Given the description of an element on the screen output the (x, y) to click on. 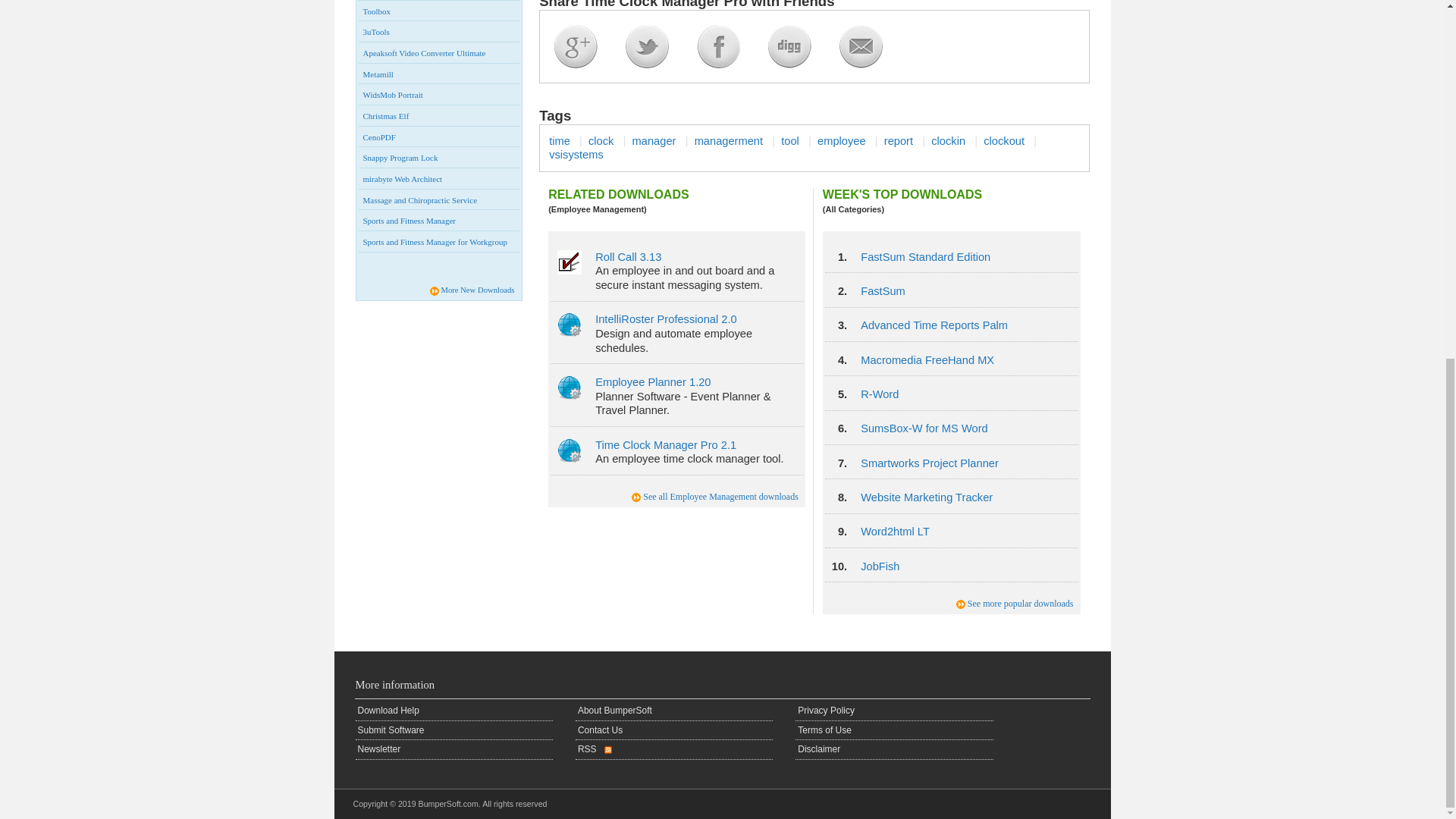
IntelliRoster Professional 2.0 (665, 318)
Roll Call 3.13 (628, 256)
Employee Planner 1.20 1.20 (652, 381)
See all Employee Management downloads (720, 496)
clock (600, 141)
Macromedia FreeHand MX (927, 359)
clockin (948, 141)
R-Word (879, 394)
employee (841, 141)
Time Clock Manager Pro 2.1 (665, 444)
